Given the description of an element on the screen output the (x, y) to click on. 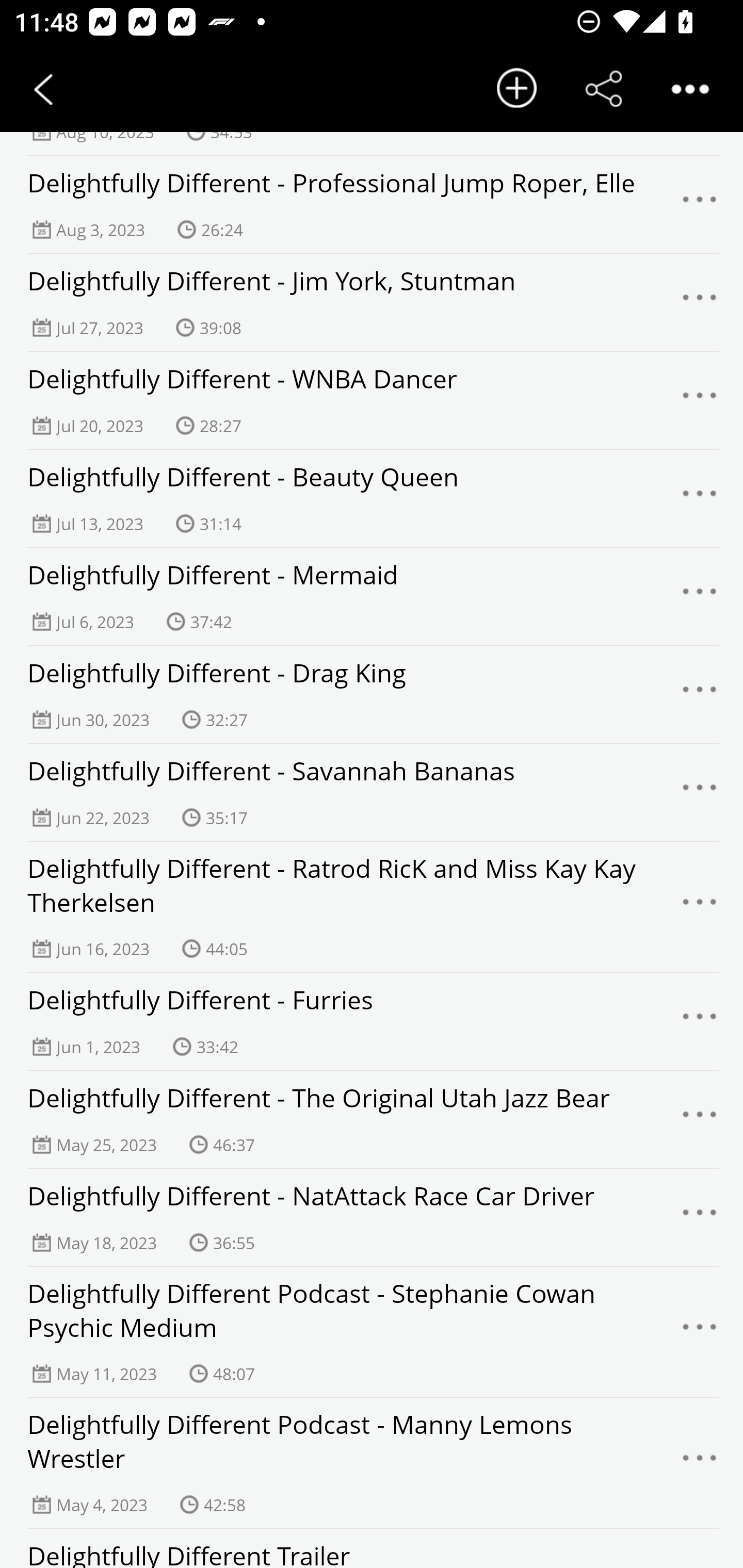
Back (43, 88)
Menu (699, 204)
Menu (699, 302)
Menu (699, 400)
Menu (699, 498)
Menu (699, 596)
Menu (699, 694)
Menu (699, 792)
Menu (699, 906)
Menu (699, 1021)
Menu (699, 1120)
Menu (699, 1217)
Menu (699, 1331)
Menu (699, 1463)
